Given the description of an element on the screen output the (x, y) to click on. 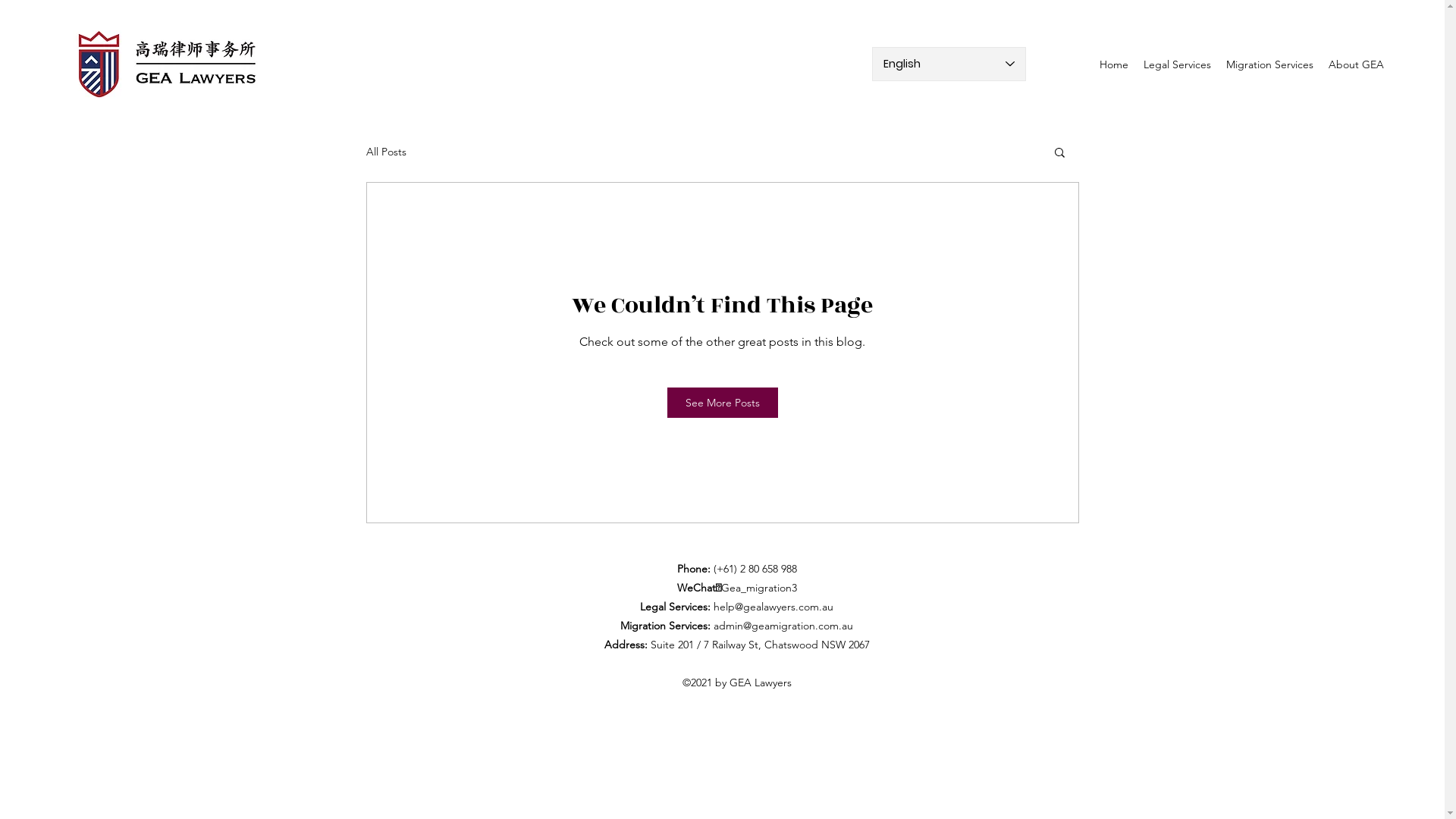
See More Posts Element type: text (722, 402)
admin@geamigration.com.au Element type: text (783, 625)
help@gealawyers.com.au Element type: text (773, 606)
Migration Services Element type: text (1269, 64)
Legal Services Element type: text (1176, 64)
Home Element type: text (1113, 64)
All Posts Element type: text (385, 151)
